Given the description of an element on the screen output the (x, y) to click on. 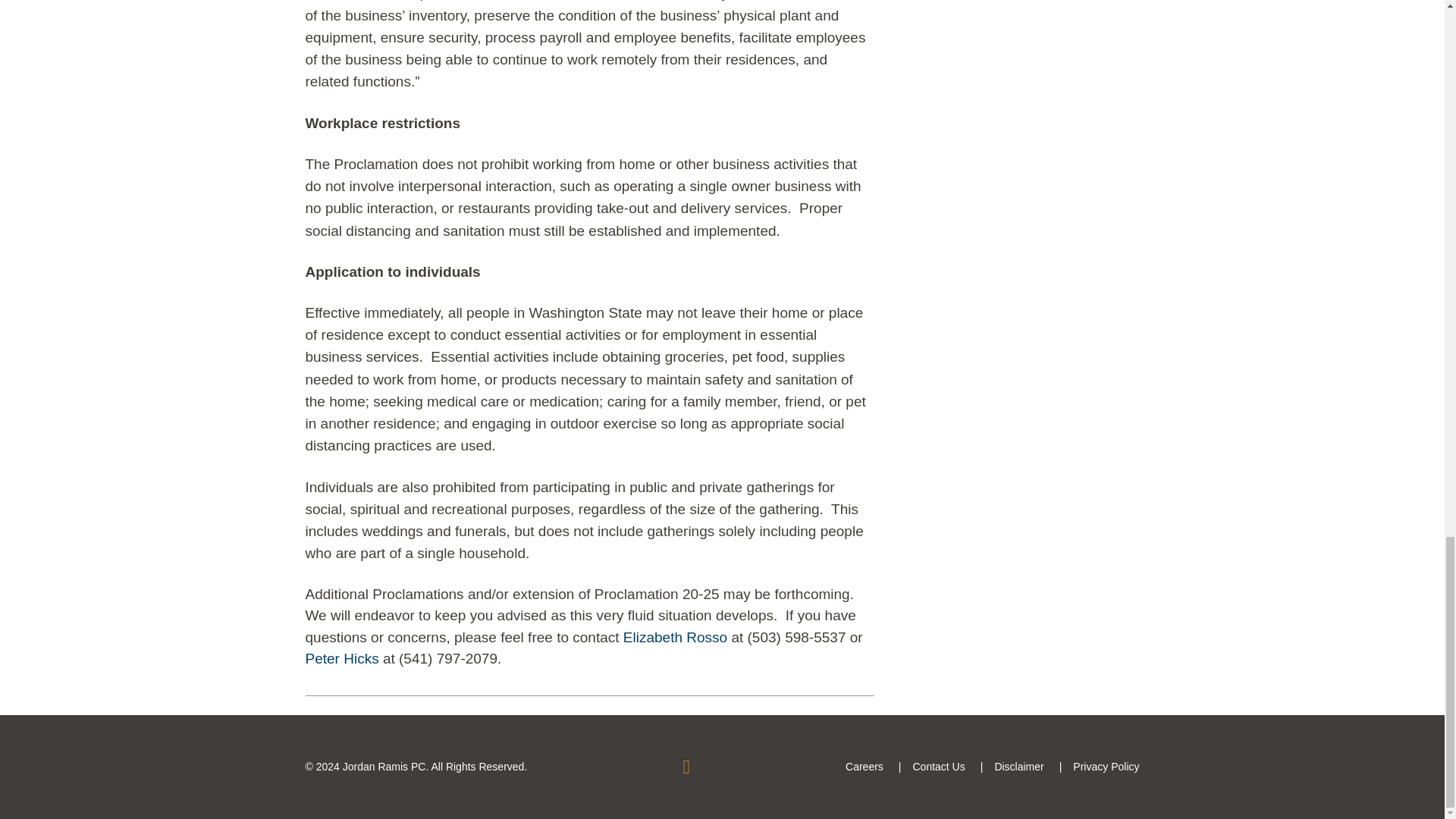
Peter Hicks (341, 658)
Privacy Policy (1105, 766)
Elizabeth Rosso (674, 637)
Careers (864, 766)
Disclaimer (1018, 766)
Contact Us (937, 766)
